Given the description of an element on the screen output the (x, y) to click on. 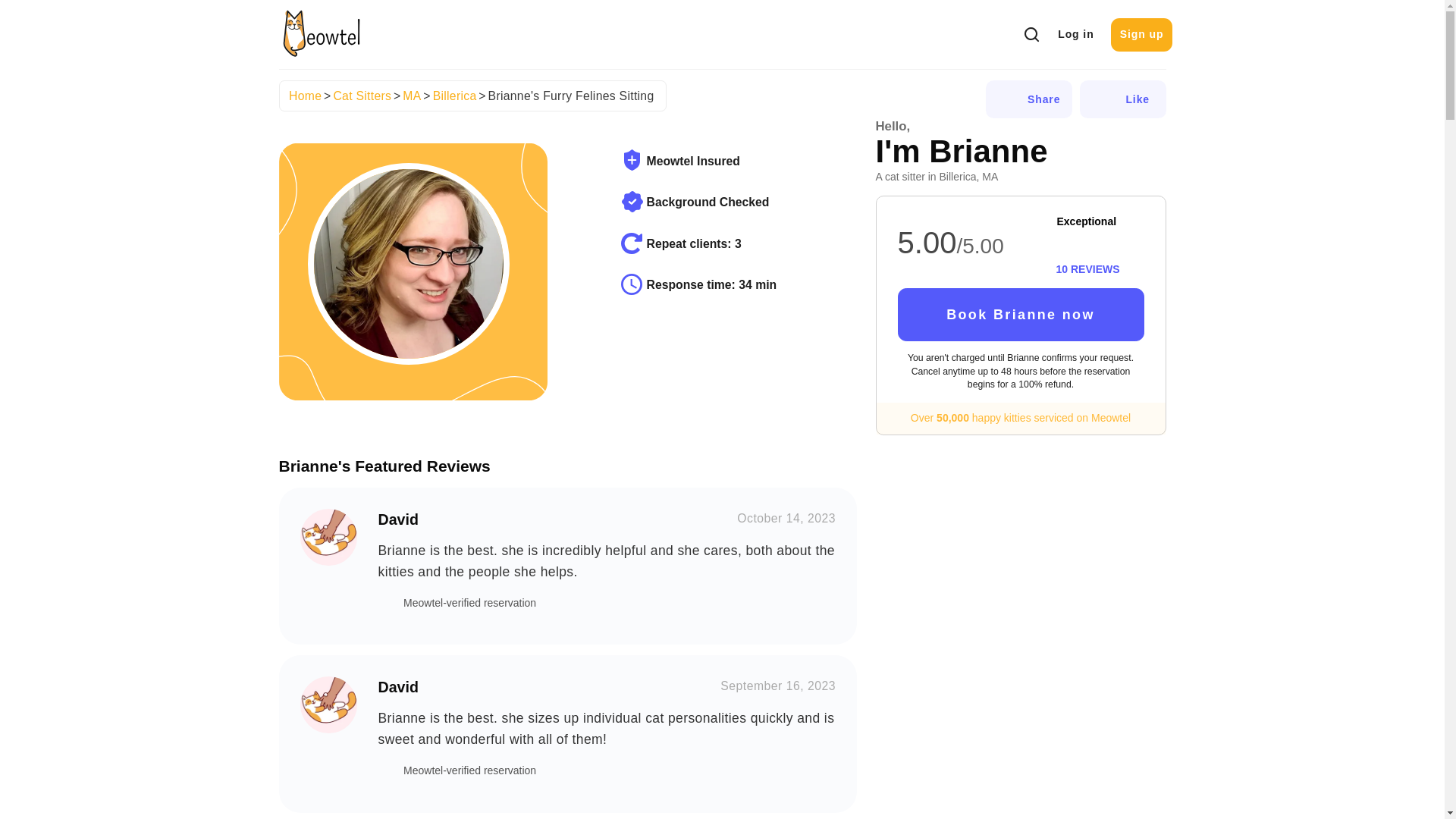
Home (304, 95)
Billerica (454, 95)
Like (1123, 98)
David (327, 704)
Log in (1075, 34)
Cat Sitters (362, 95)
Home (304, 95)
Book Brianne now (1021, 314)
10 REVIEWS (1087, 268)
Billerica (454, 95)
Billerica (454, 95)
MA (411, 95)
Share (1028, 98)
Meowtel.com Logo (321, 32)
Cat Sitters (362, 95)
